Given the description of an element on the screen output the (x, y) to click on. 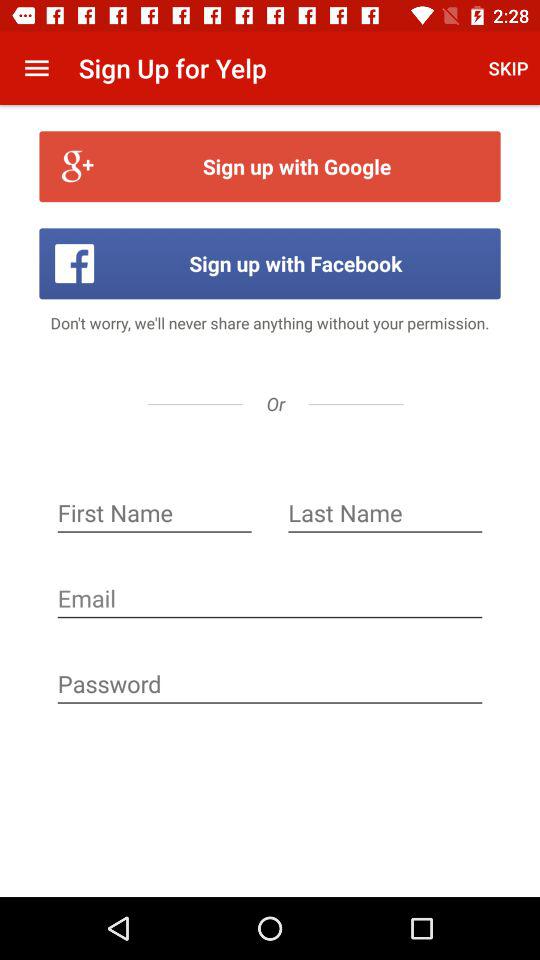
scroll until the skip icon (508, 68)
